Given the description of an element on the screen output the (x, y) to click on. 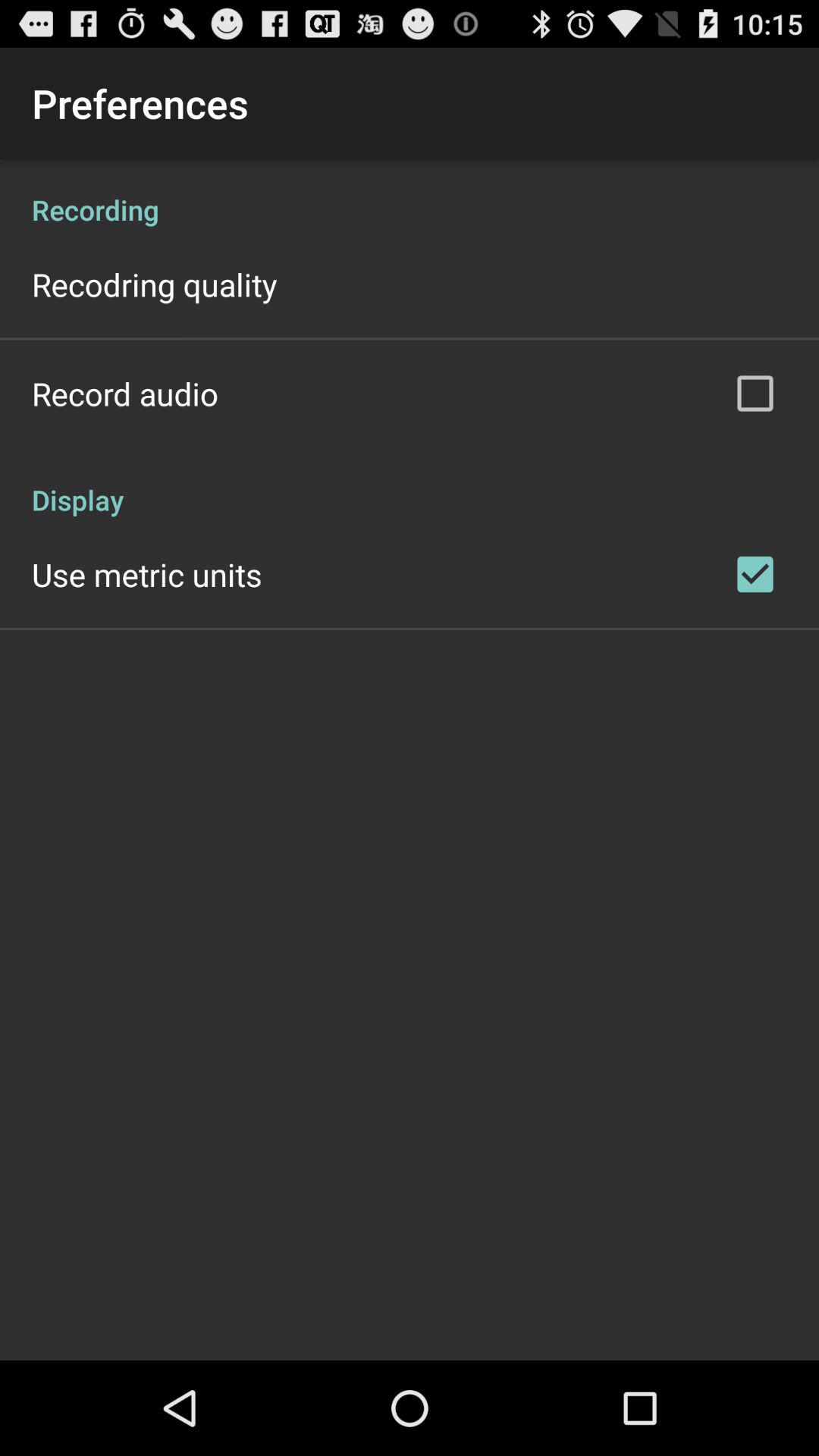
launch the use metric units app (146, 574)
